Given the description of an element on the screen output the (x, y) to click on. 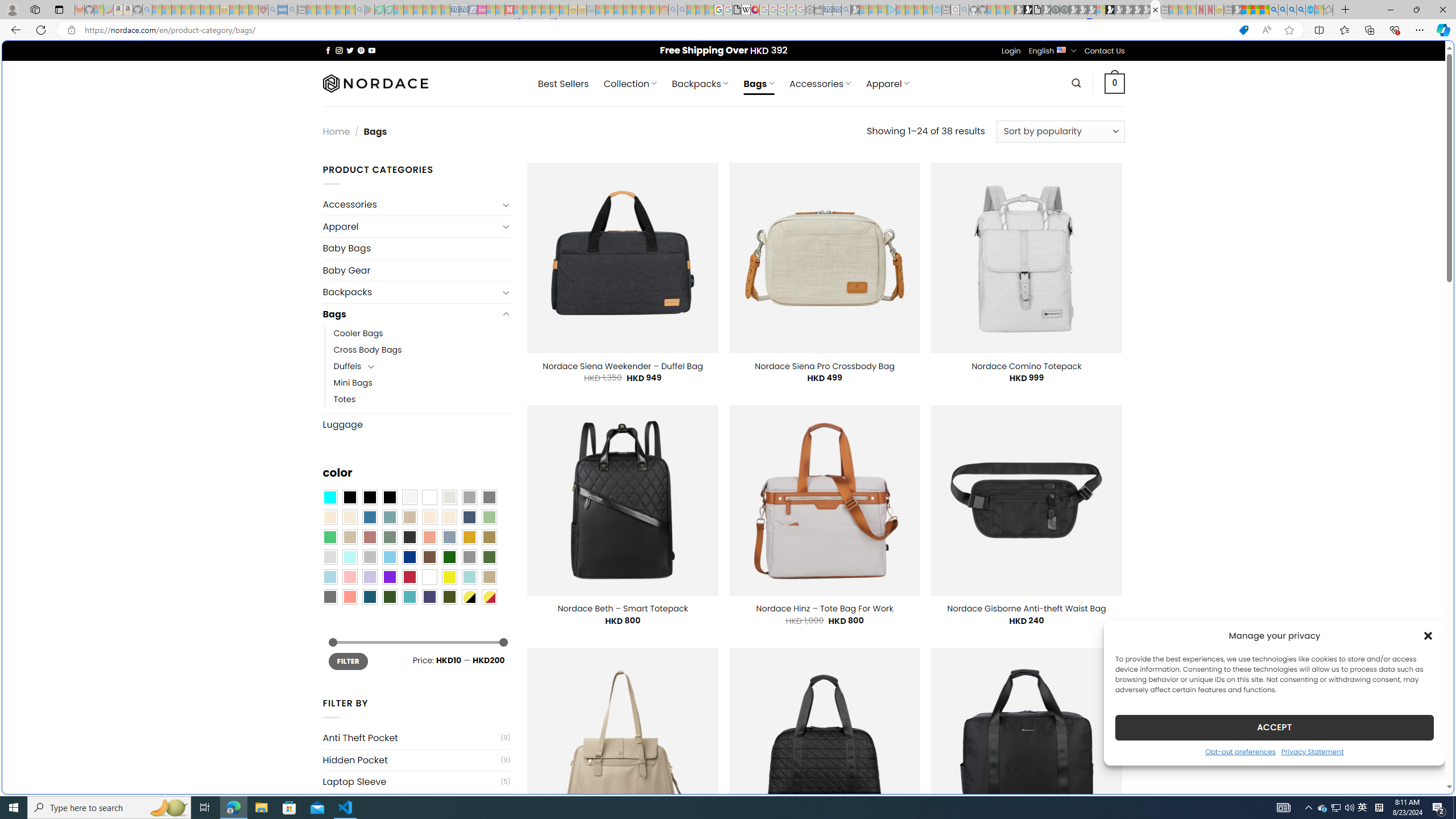
Tabs you've opened (885, 151)
White (429, 577)
